Given the description of an element on the screen output the (x, y) to click on. 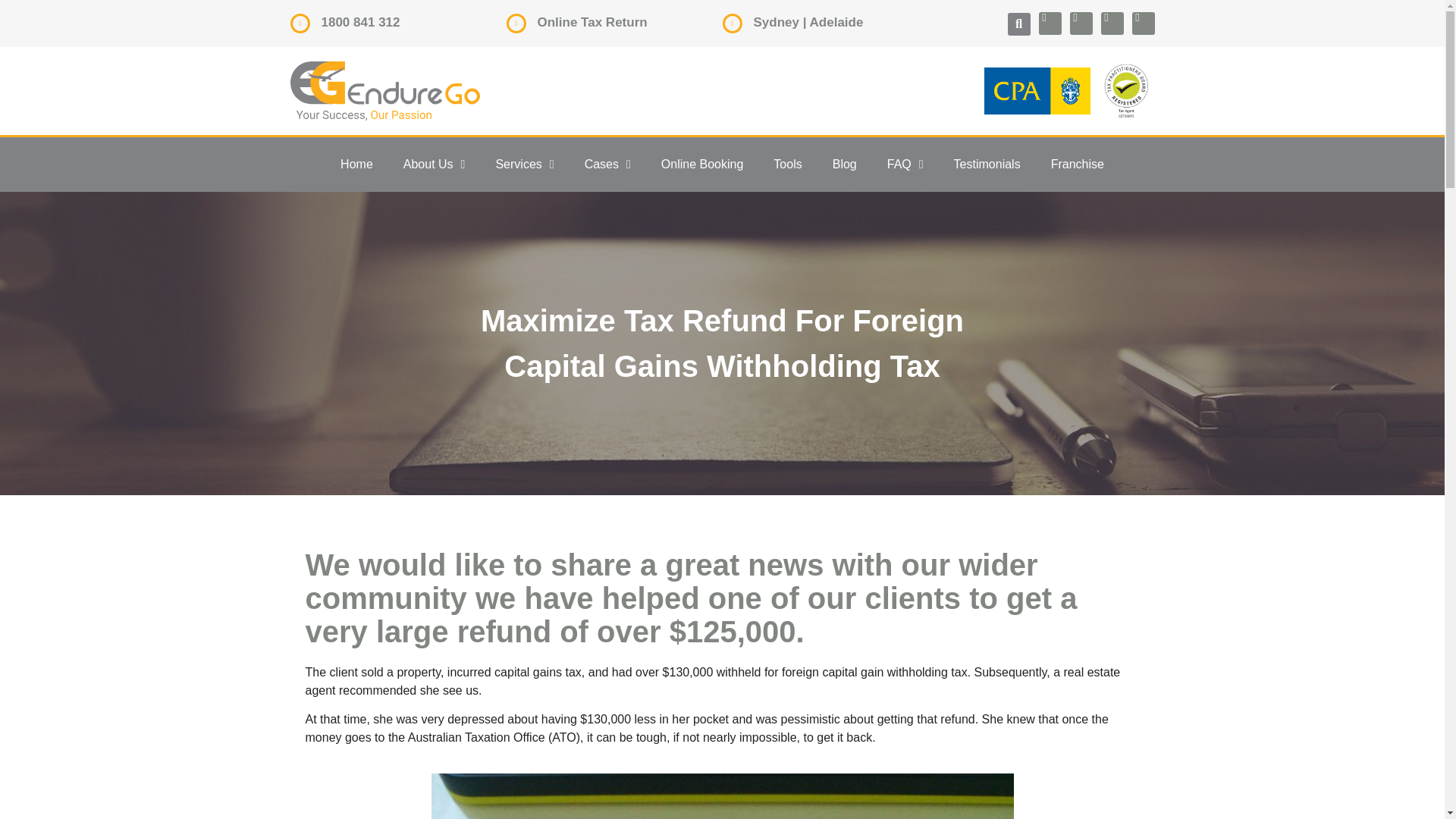
Online Tax Return (591, 22)
Home (356, 164)
Cases (607, 164)
Tools (787, 164)
Services (524, 164)
Sydney (776, 22)
Adelaide (836, 22)
Online Booking (702, 164)
1800 841 312 (360, 22)
About Us (434, 164)
